Given the description of an element on the screen output the (x, y) to click on. 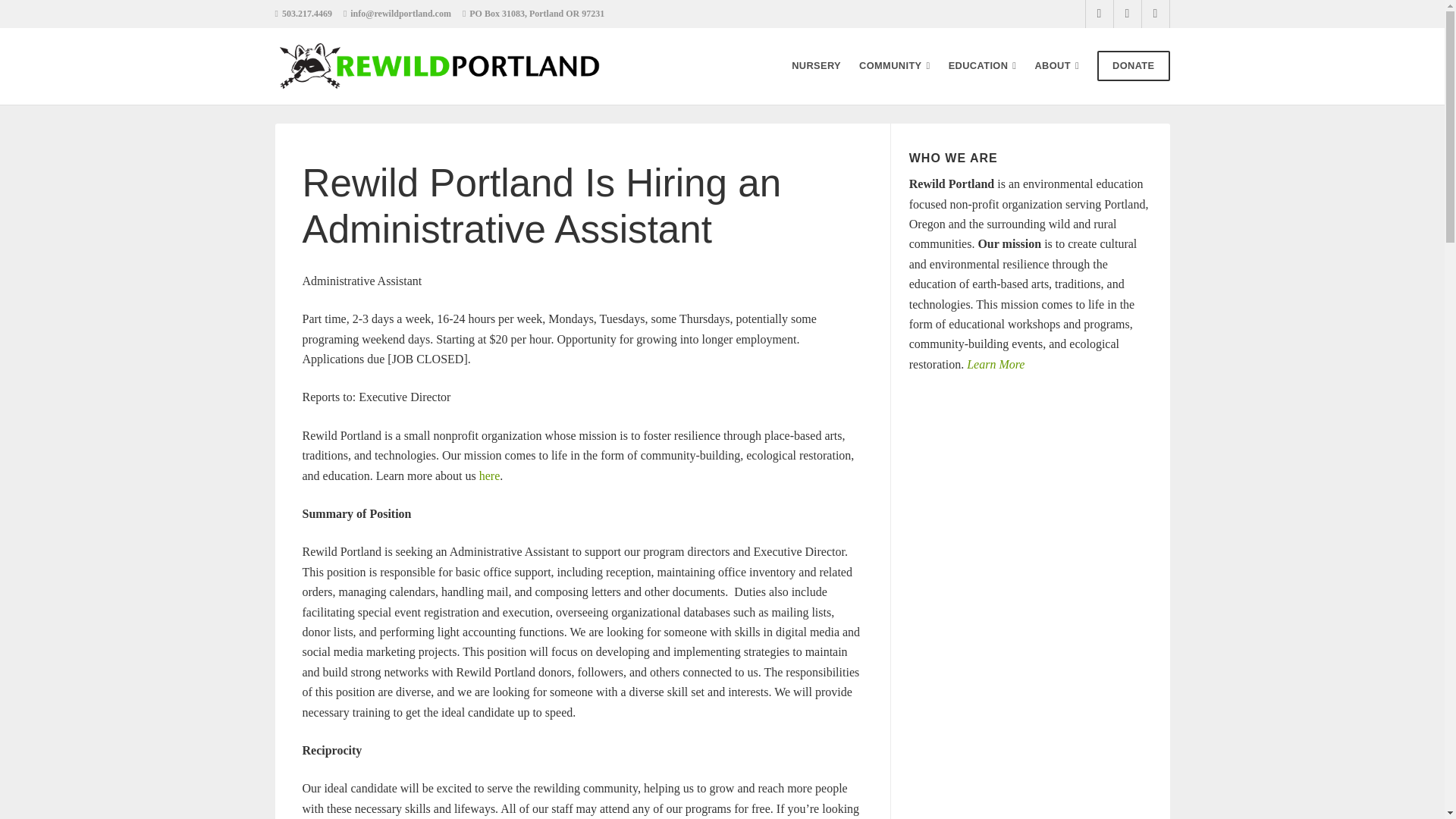
503.217.4469 (306, 13)
EDUCATION (982, 64)
COMMUNITY (894, 64)
ABOUT (1055, 64)
NURSERY (816, 64)
here (489, 475)
